Given the description of an element on the screen output the (x, y) to click on. 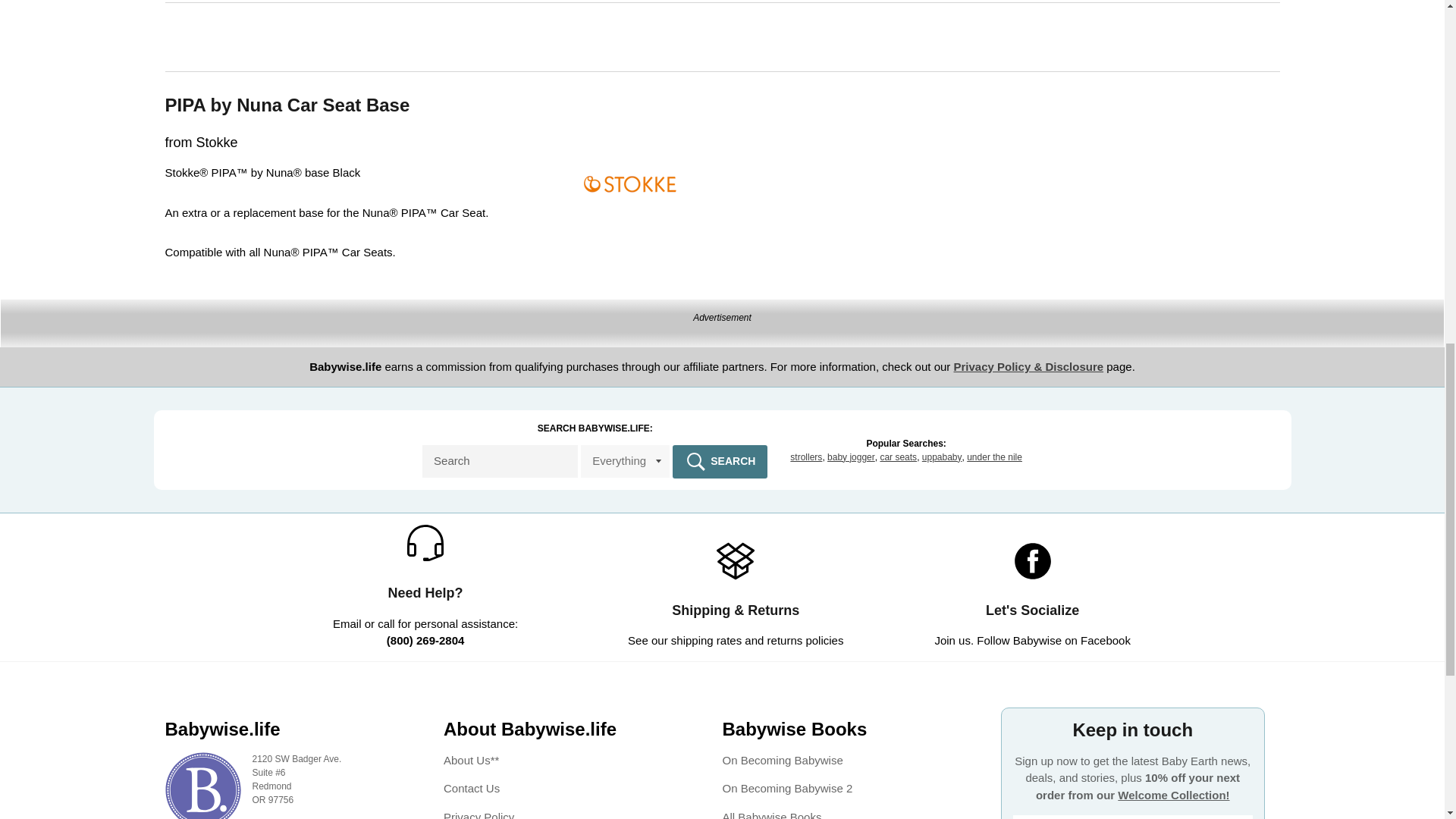
Under the Nile (994, 457)
Strollers (806, 457)
UPPAbaby (941, 457)
Baby Jogger (851, 457)
Car Seats (898, 457)
